Given the description of an element on the screen output the (x, y) to click on. 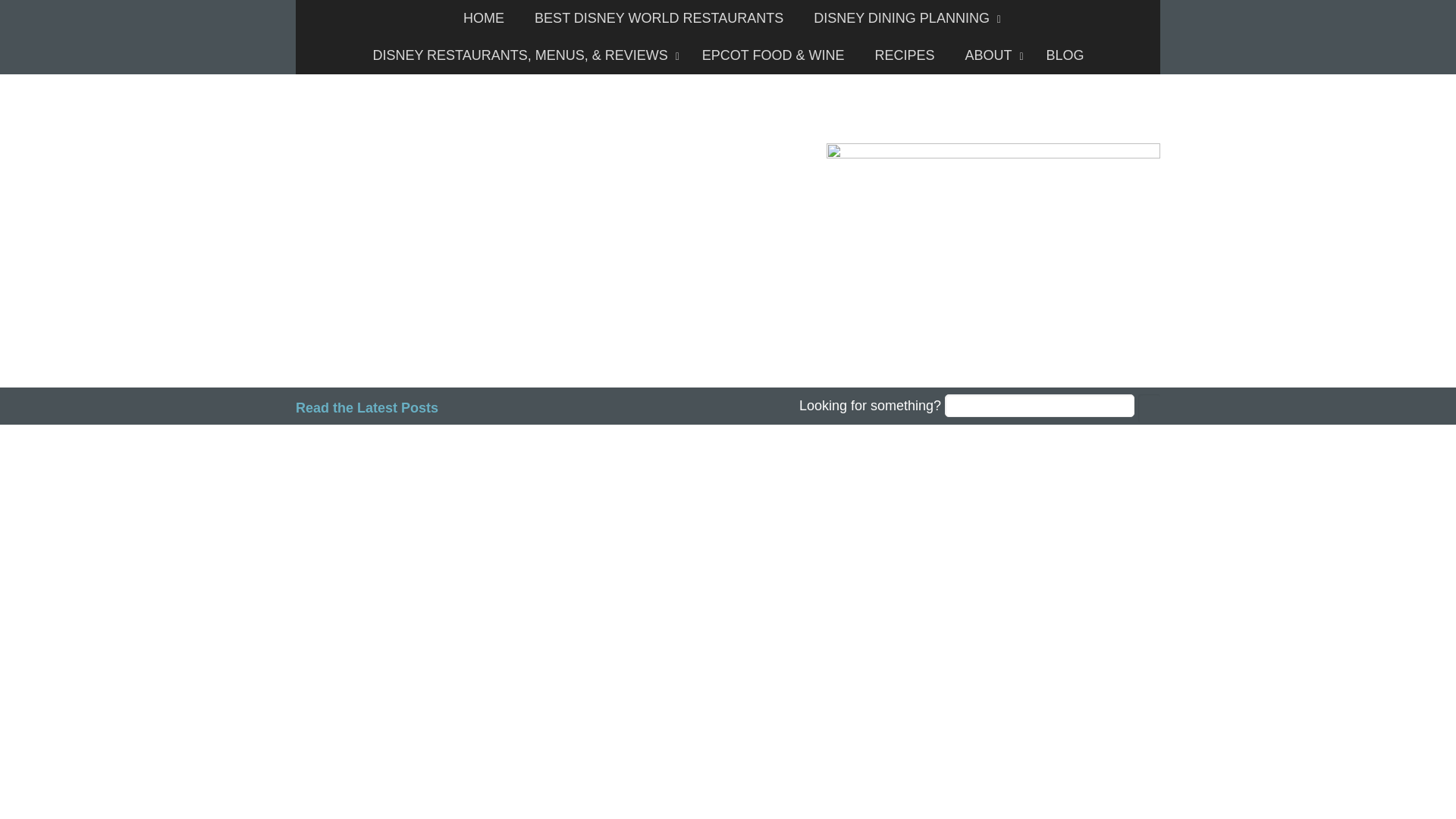
HOME (483, 18)
BEST DISNEY WORLD RESTAURANTS (658, 18)
DISNEY DINING PLANNING (903, 18)
